Given the description of an element on the screen output the (x, y) to click on. 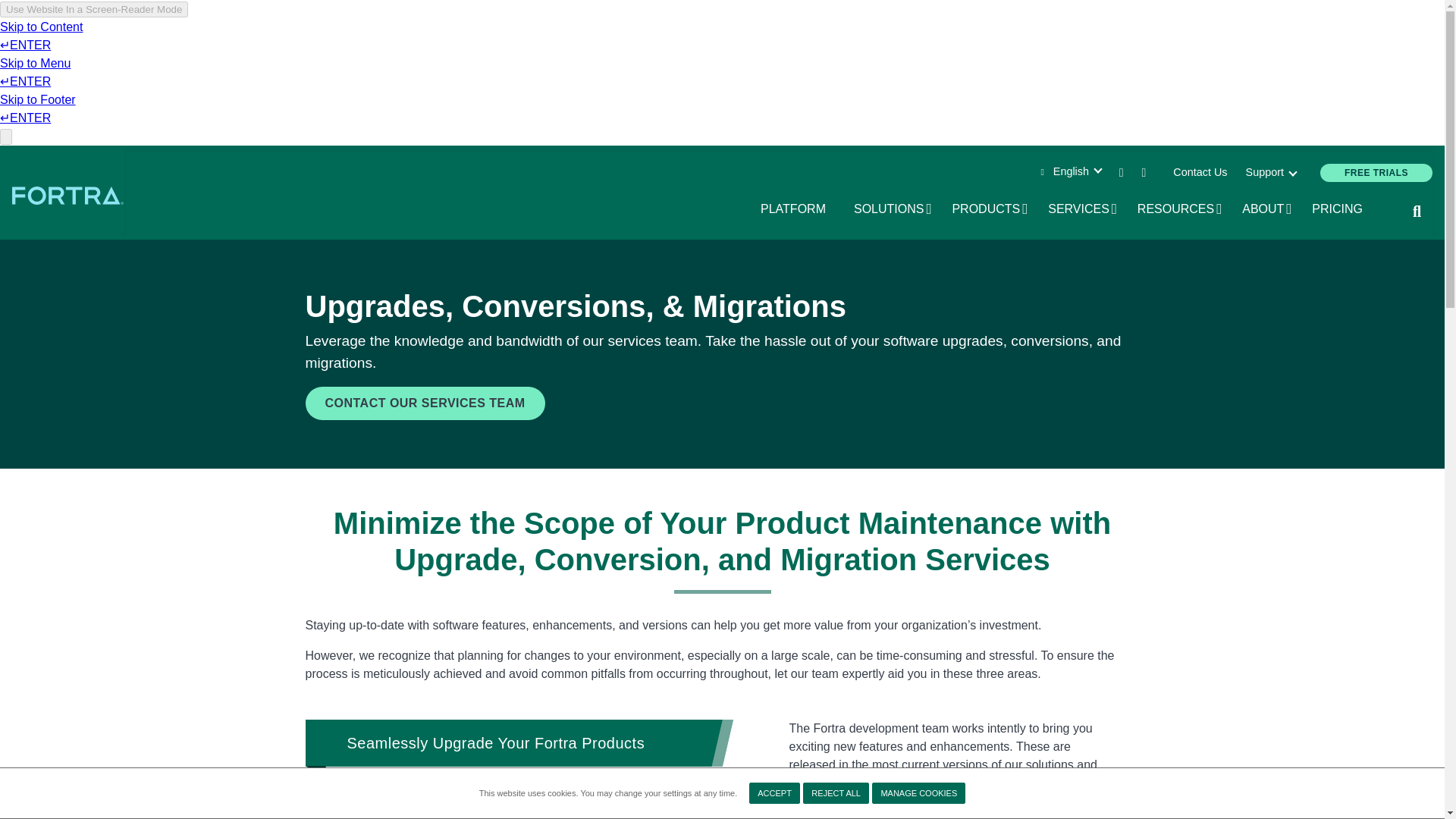
Support (1268, 172)
FREE TRIALS (1376, 172)
PLATFORM (893, 208)
Home (797, 208)
MANAGE COOKIES (68, 195)
REJECT ALL (918, 793)
Contact Us (836, 793)
ACCEPT (1199, 172)
Skip to main content (774, 793)
